Given the description of an element on the screen output the (x, y) to click on. 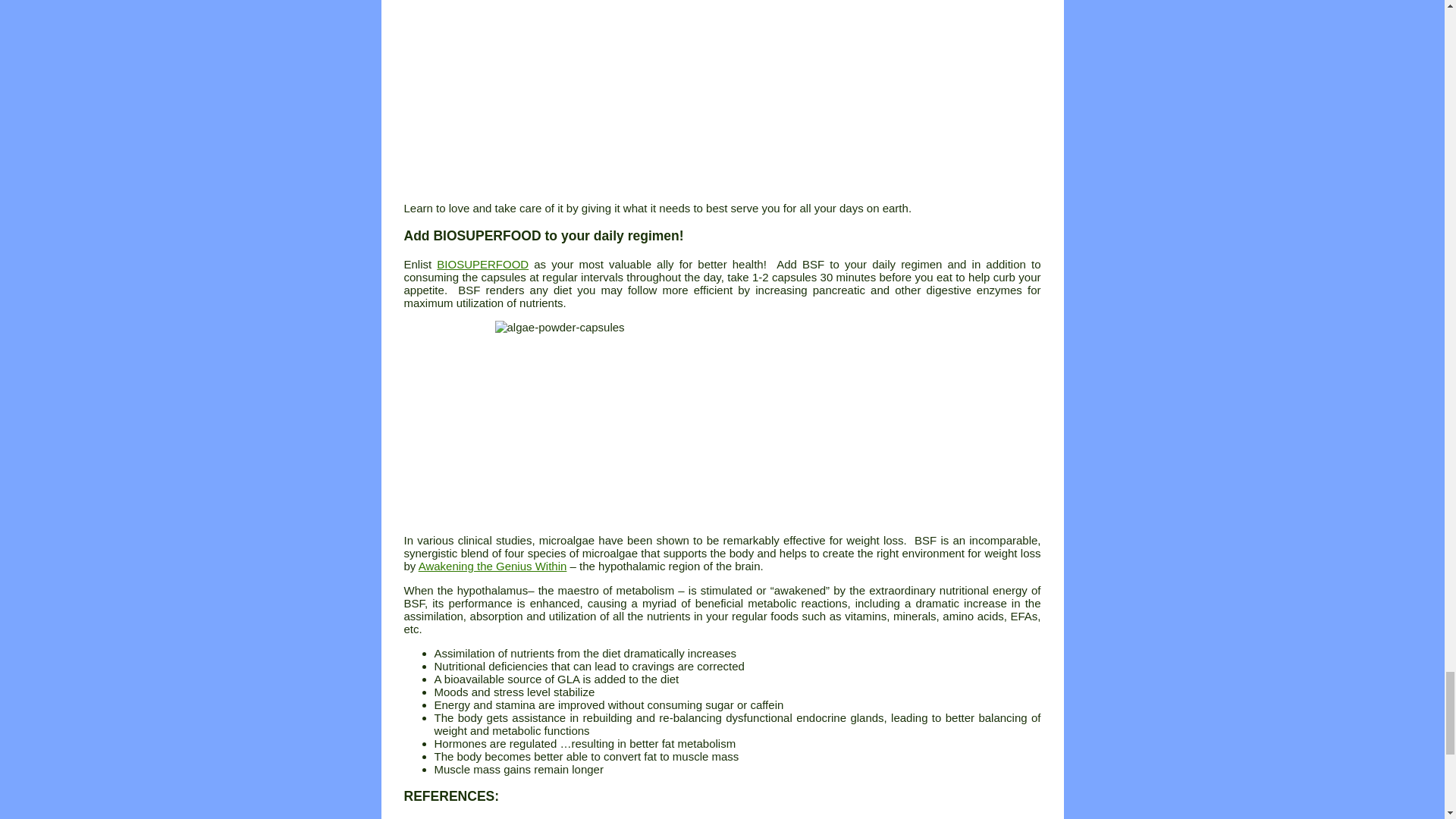
Awakening the Genius Within (493, 565)
BIOSUPERFOOD (482, 264)
